Given the description of an element on the screen output the (x, y) to click on. 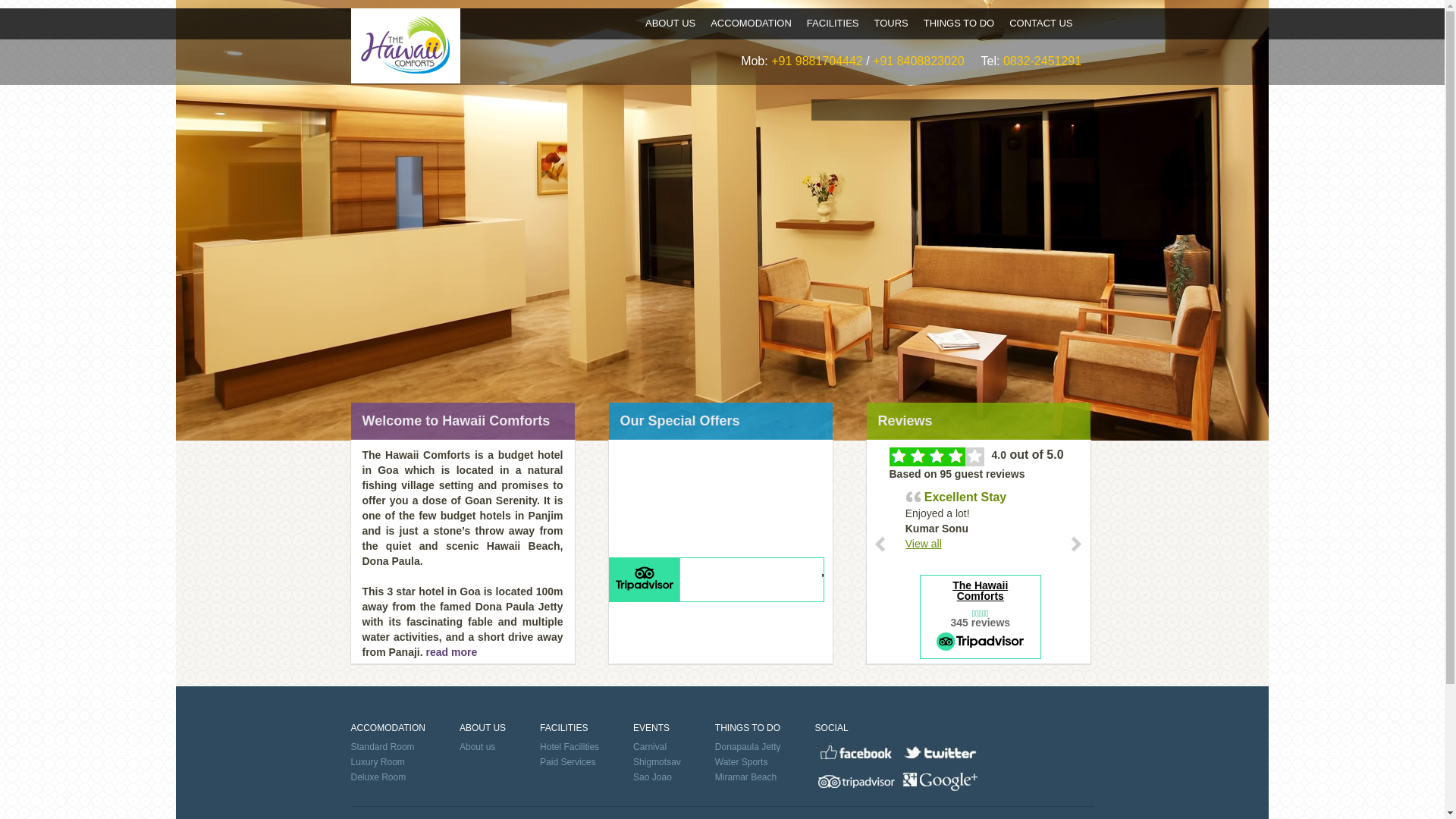
read more (450, 652)
THINGS TO DO (958, 22)
ABOUT US (670, 22)
ACCOMODATION (751, 22)
FACILITIES (832, 22)
CONTACT US (1040, 22)
0832-2451291 (1042, 60)
